Given the description of an element on the screen output the (x, y) to click on. 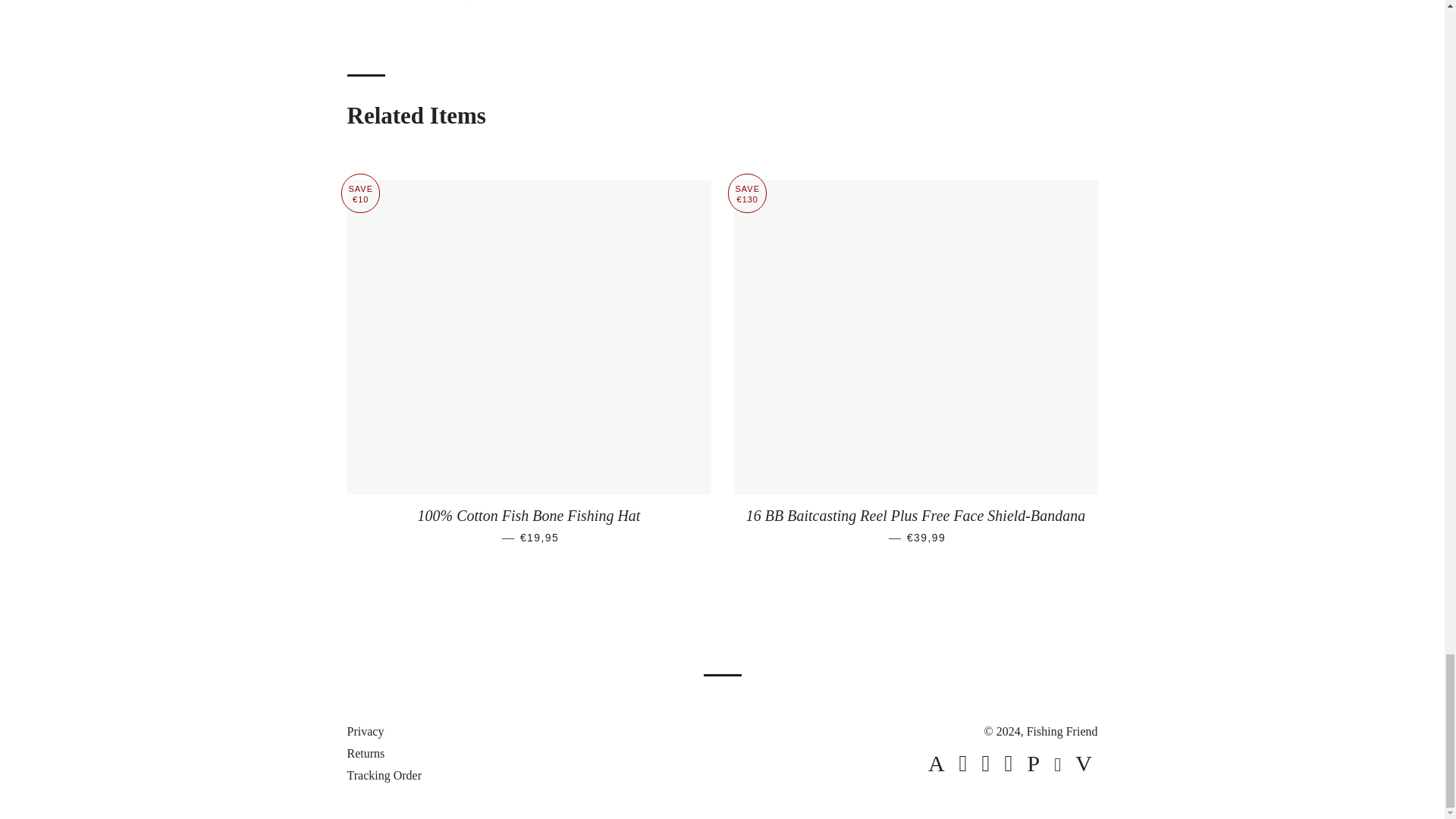
Returns (366, 753)
Fishing Friend (1061, 730)
Tracking Order (384, 775)
Privacy (365, 730)
